Given the description of an element on the screen output the (x, y) to click on. 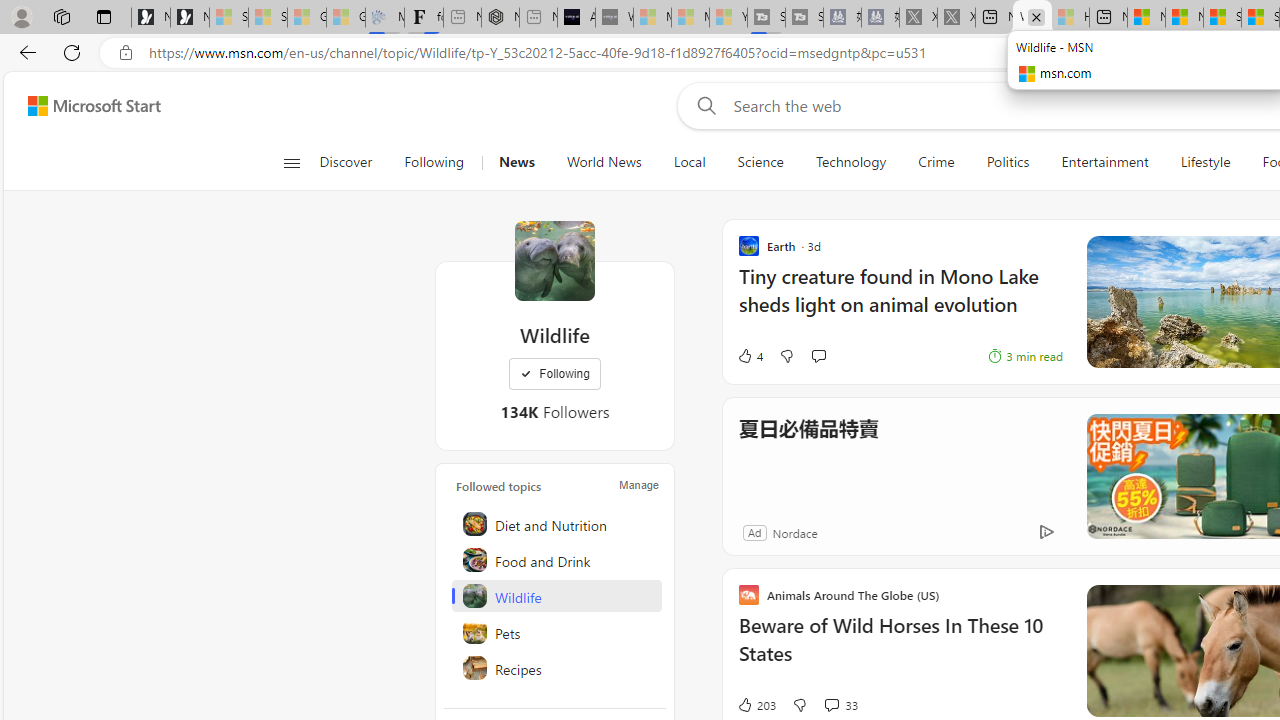
Manage (639, 484)
News (516, 162)
Class: button-glyph (290, 162)
Web search (702, 105)
Recipes (556, 668)
Crime (935, 162)
Entertainment (1104, 162)
Wildlife (556, 596)
View comments 33 Comment (840, 704)
Beware of Wild Horses In These 10 States (900, 650)
Lifestyle (1205, 162)
